Given the description of an element on the screen output the (x, y) to click on. 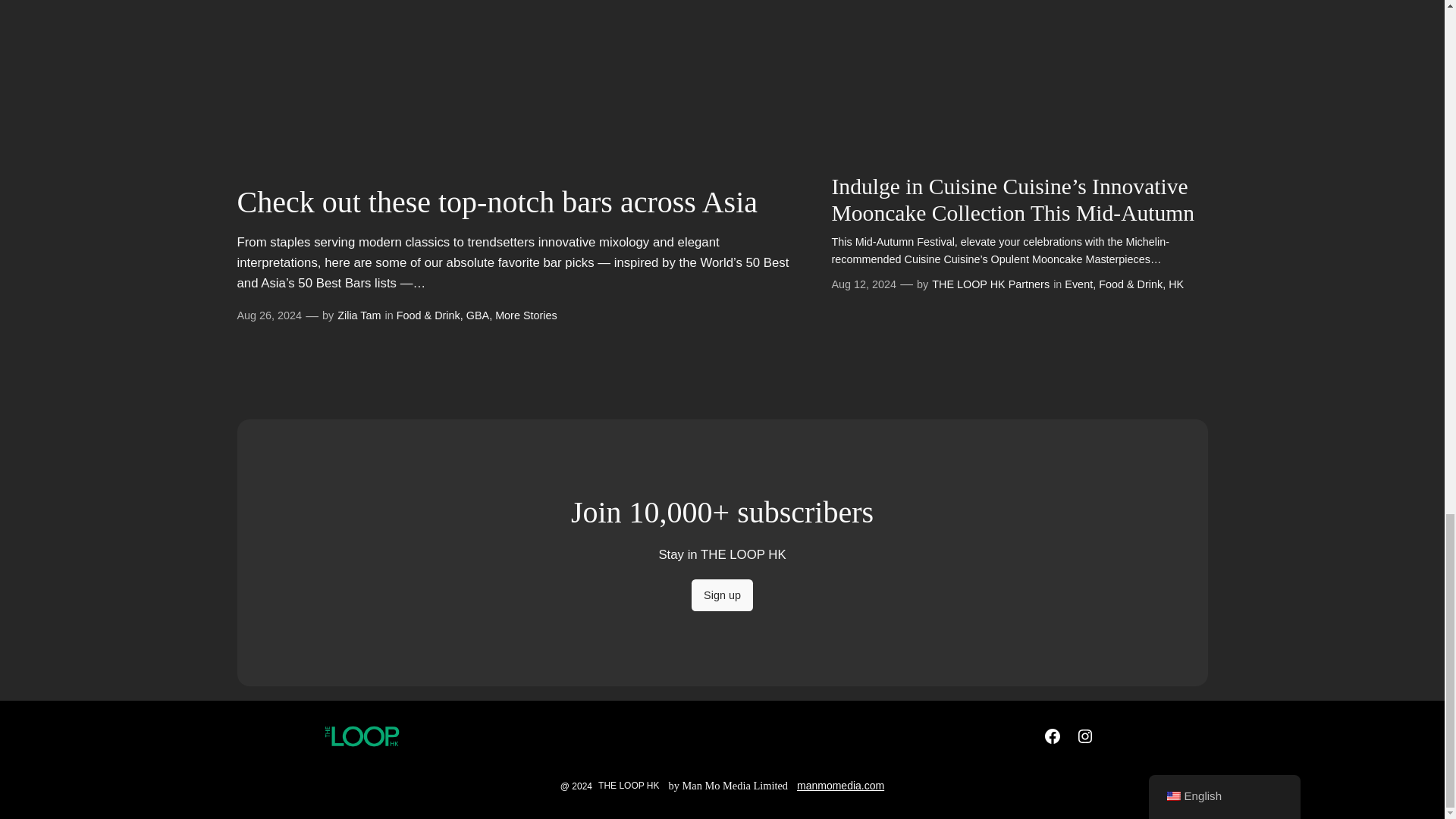
THE LOOP HK Partners (990, 284)
Sign up (721, 594)
More Stories (526, 315)
HK (1176, 284)
GBA (477, 315)
Event (1078, 284)
Check out these top-notch bars across Asia (496, 202)
Zilia Tam (358, 315)
Aug 26, 2024 (268, 315)
Aug 12, 2024 (863, 284)
